Given the description of an element on the screen output the (x, y) to click on. 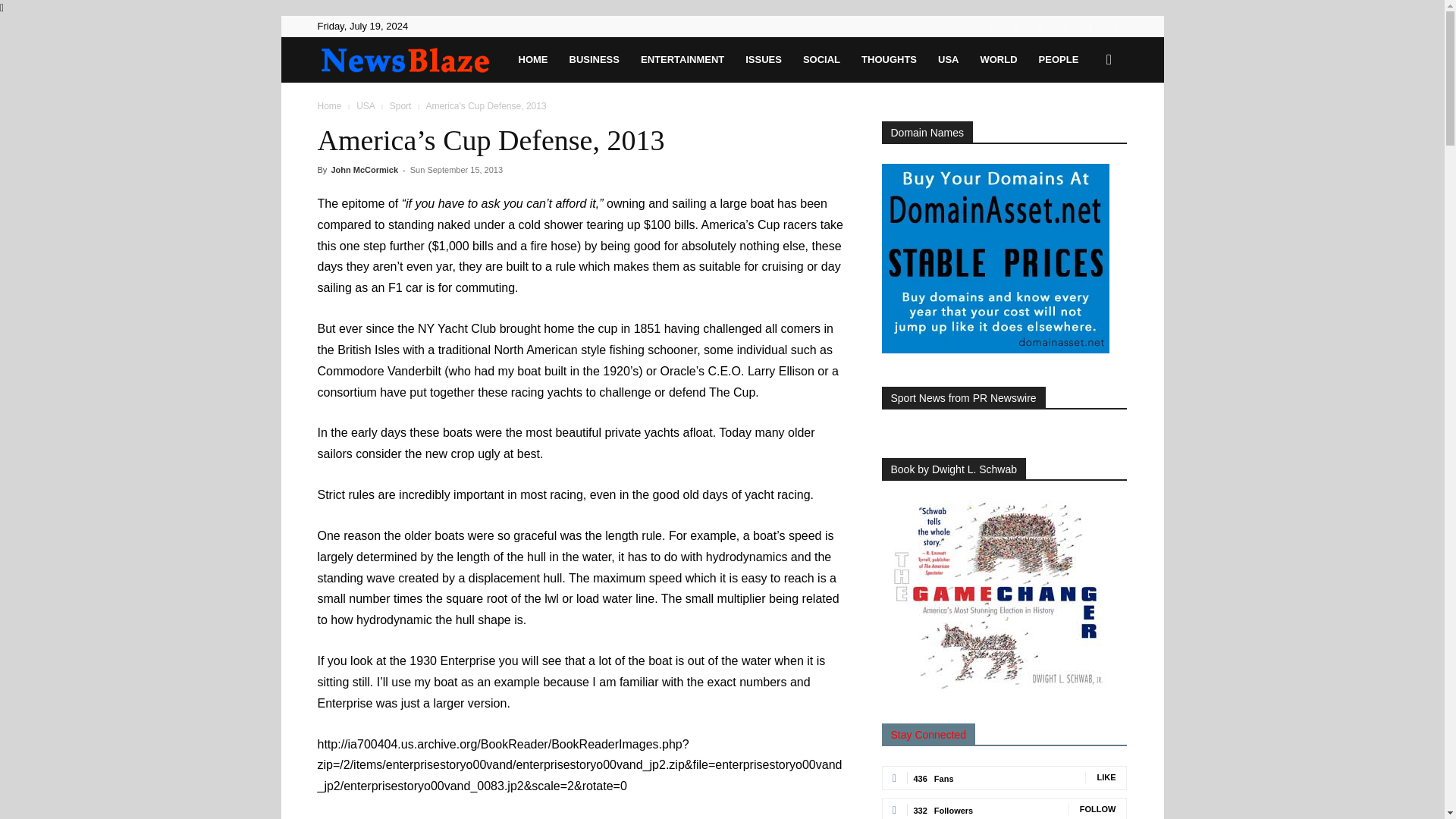
Twitter (1065, 26)
Vimeo (1090, 26)
Linkedin (1015, 26)
NewsBlaze News logo (404, 60)
View all posts in Sport (401, 105)
Pinterest (1040, 26)
View all posts in USA (365, 105)
Facebook (989, 26)
Youtube (1114, 26)
